Given the description of an element on the screen output the (x, y) to click on. 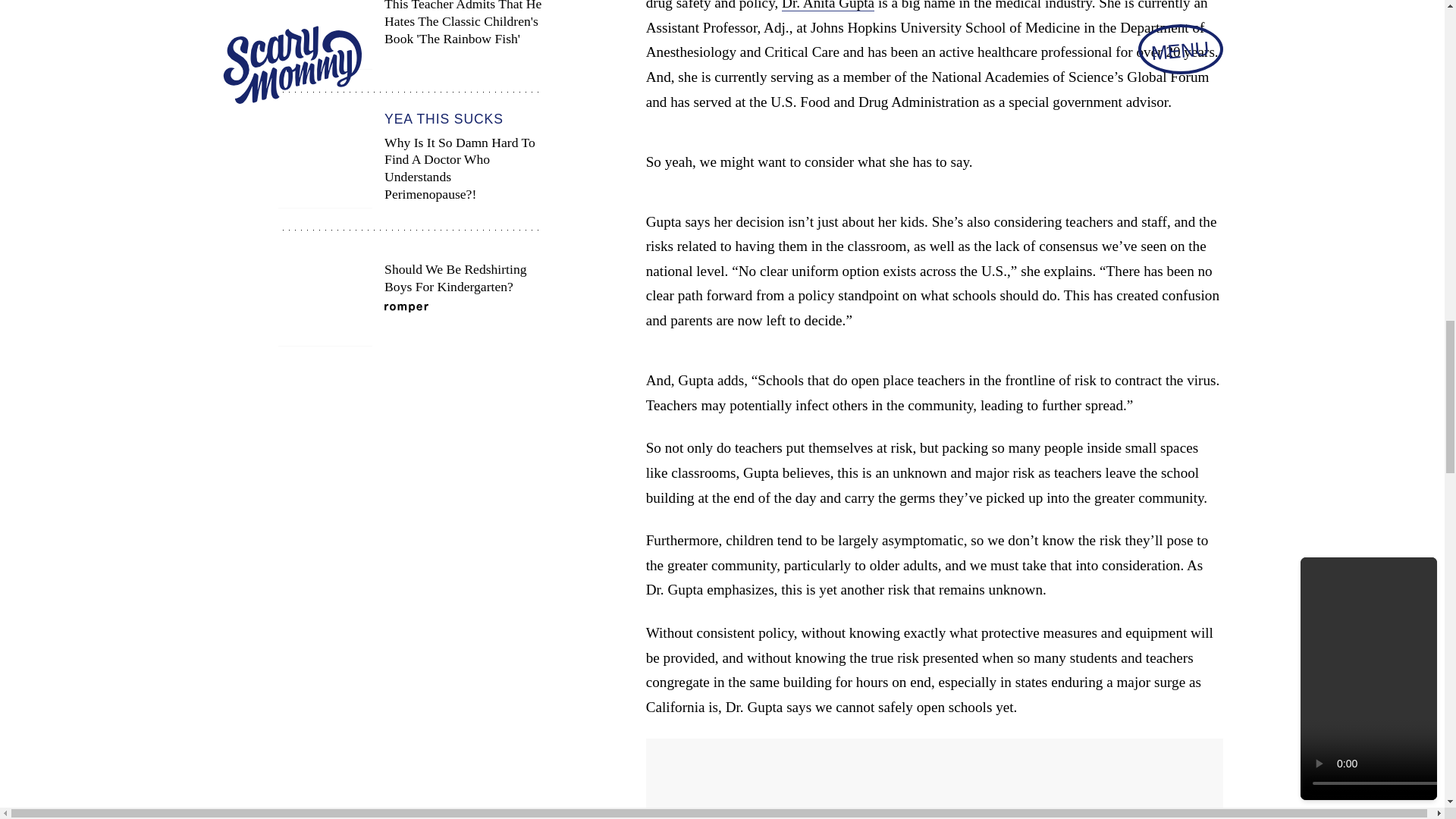
Dr. Anita Gupta (828, 5)
Should We Be Redshirting Boys For Kindergarten? (410, 299)
